Given the description of an element on the screen output the (x, y) to click on. 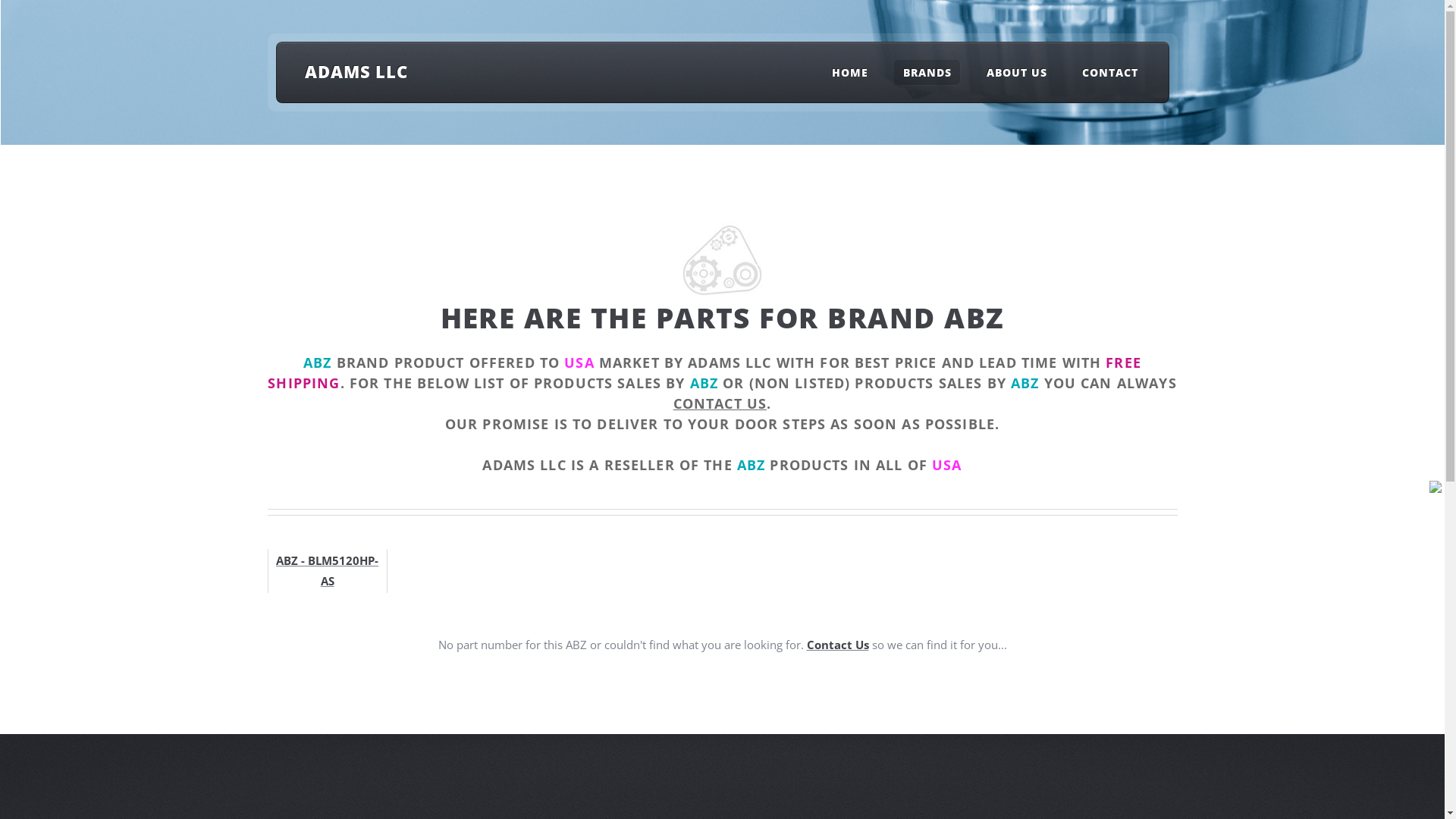
BRANDS Element type: text (927, 71)
Contact Us Element type: text (837, 644)
CONTACT Element type: text (1110, 71)
HOME Element type: text (849, 71)
ABZ - BLM5120HP-AS Element type: text (327, 570)
CONTACT US Element type: text (719, 403)
ABOUT US Element type: text (1016, 71)
ADAMS LLC Element type: text (355, 70)
